Given the description of an element on the screen output the (x, y) to click on. 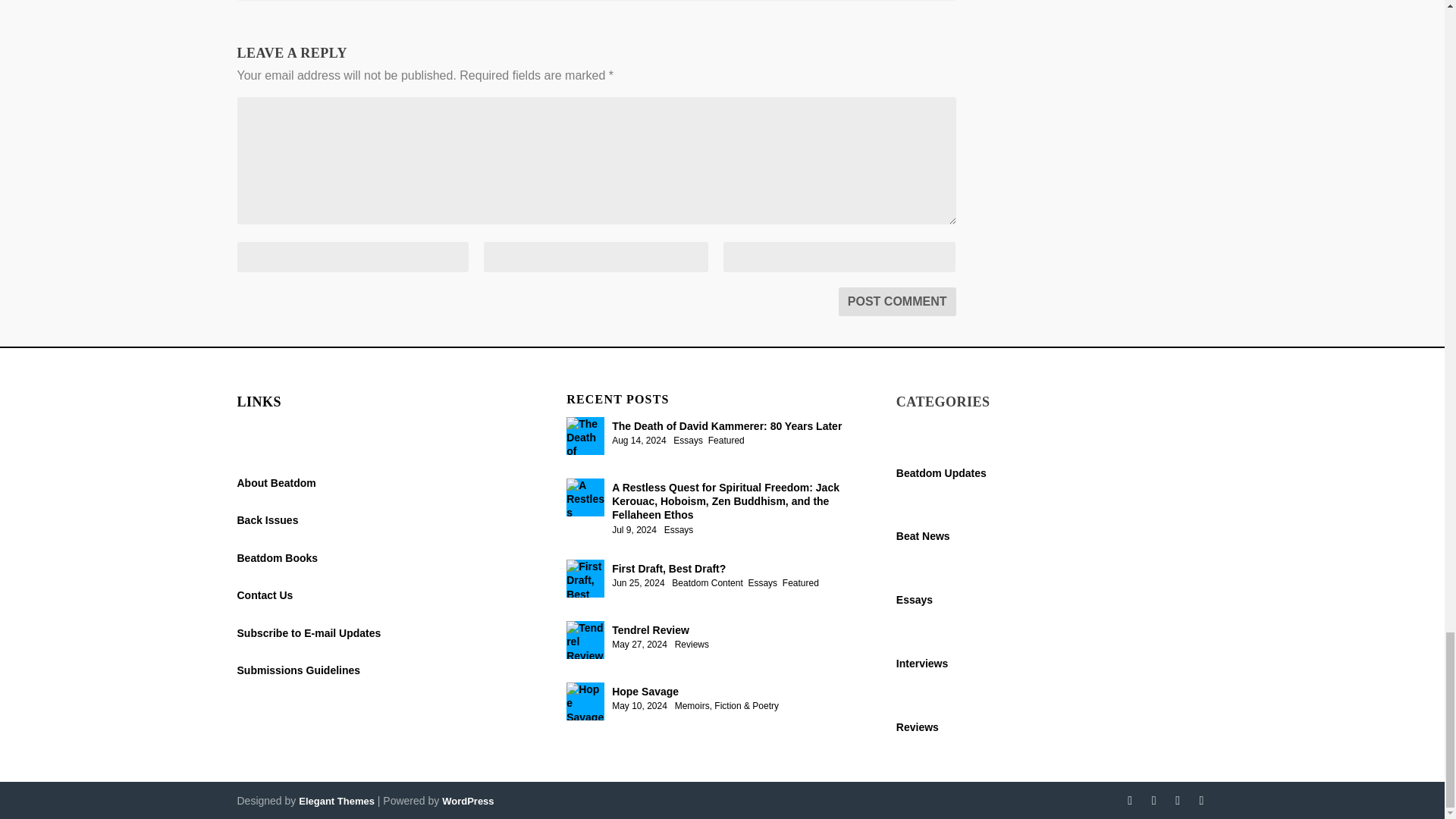
The Death of David Kammerer: 80 Years Later (585, 435)
Post Comment (897, 301)
